Given the description of an element on the screen output the (x, y) to click on. 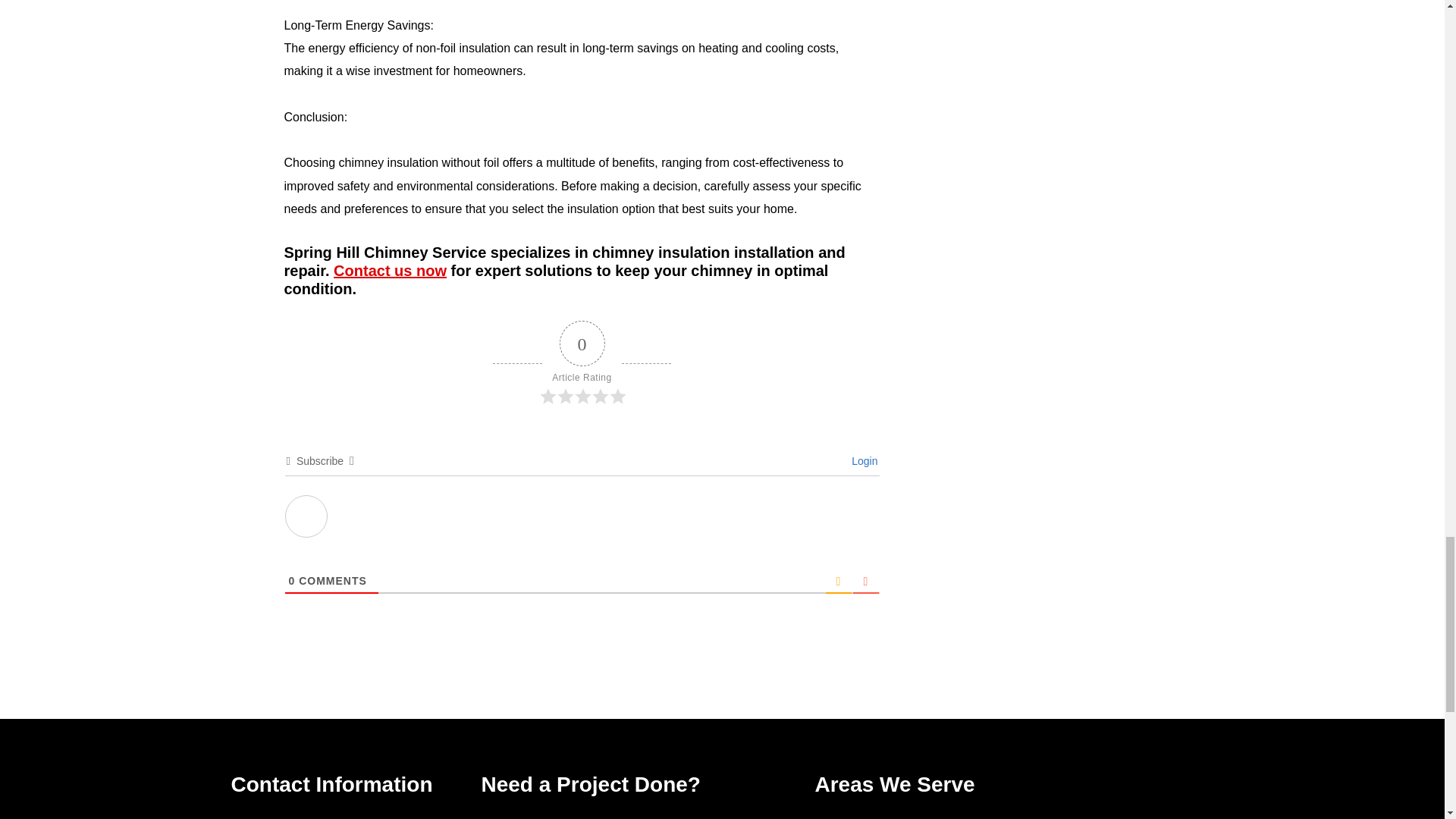
Login (862, 460)
Contact us now (389, 270)
